Given the description of an element on the screen output the (x, y) to click on. 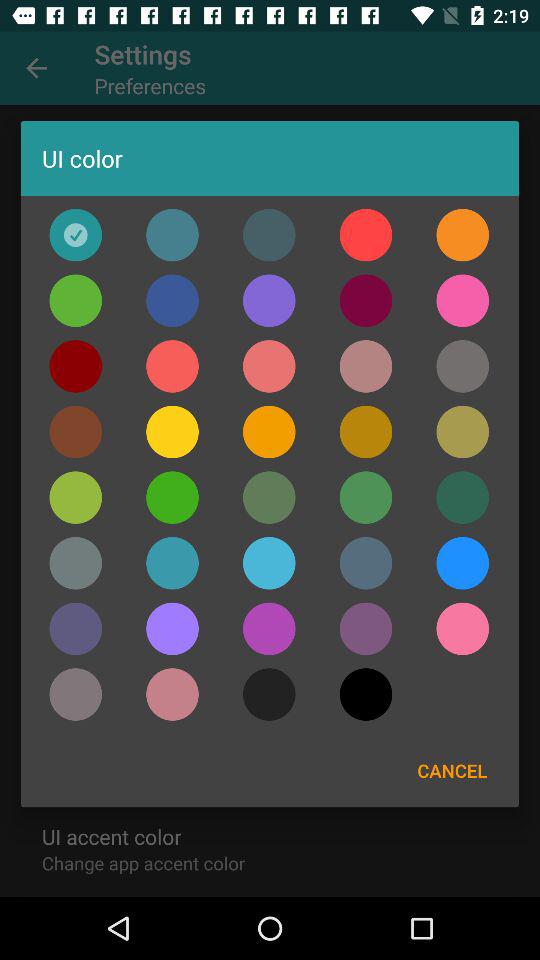
wine color (365, 300)
